Given the description of an element on the screen output the (x, y) to click on. 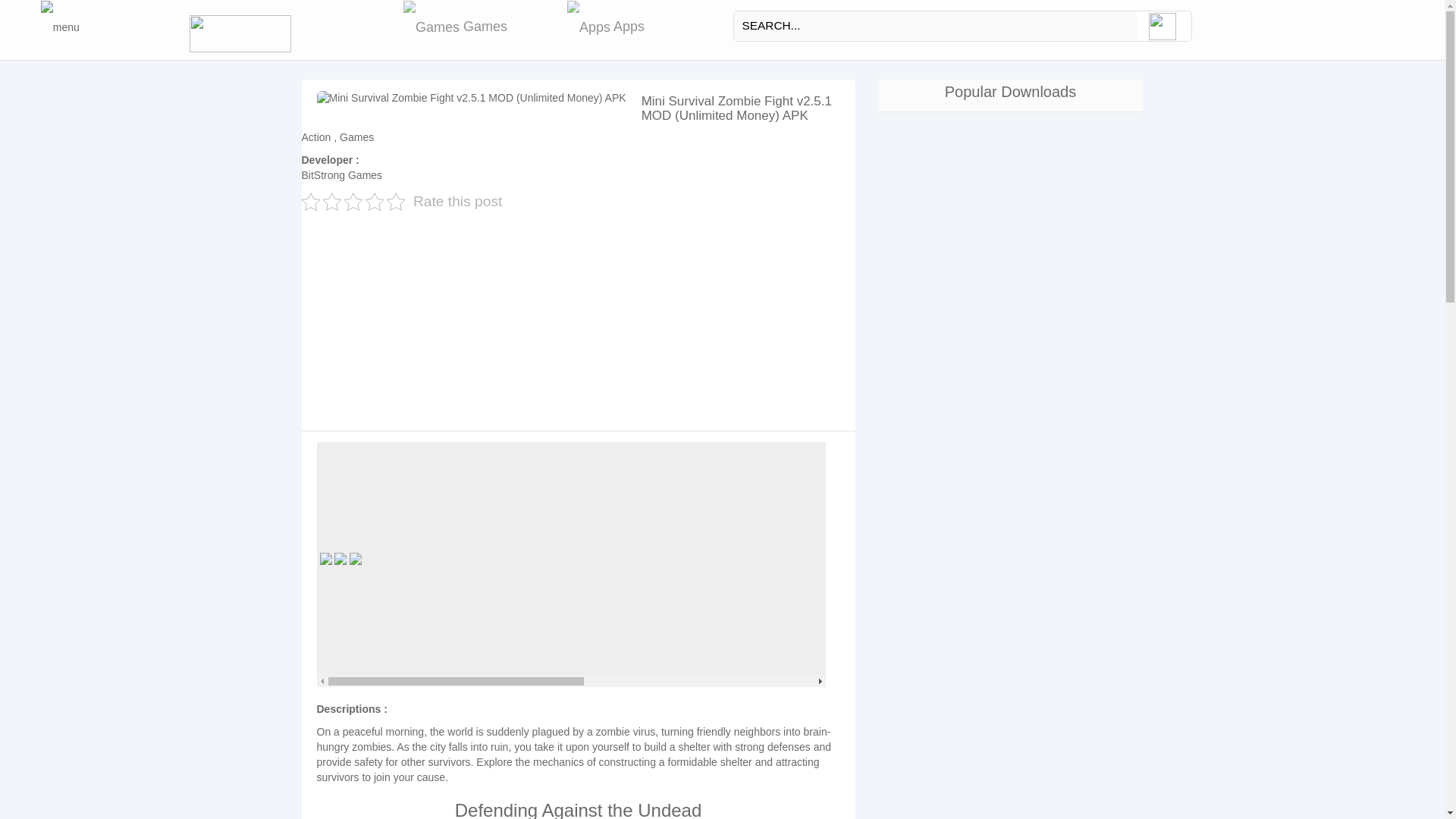
Games (454, 26)
Apps (606, 26)
